Given the description of an element on the screen output the (x, y) to click on. 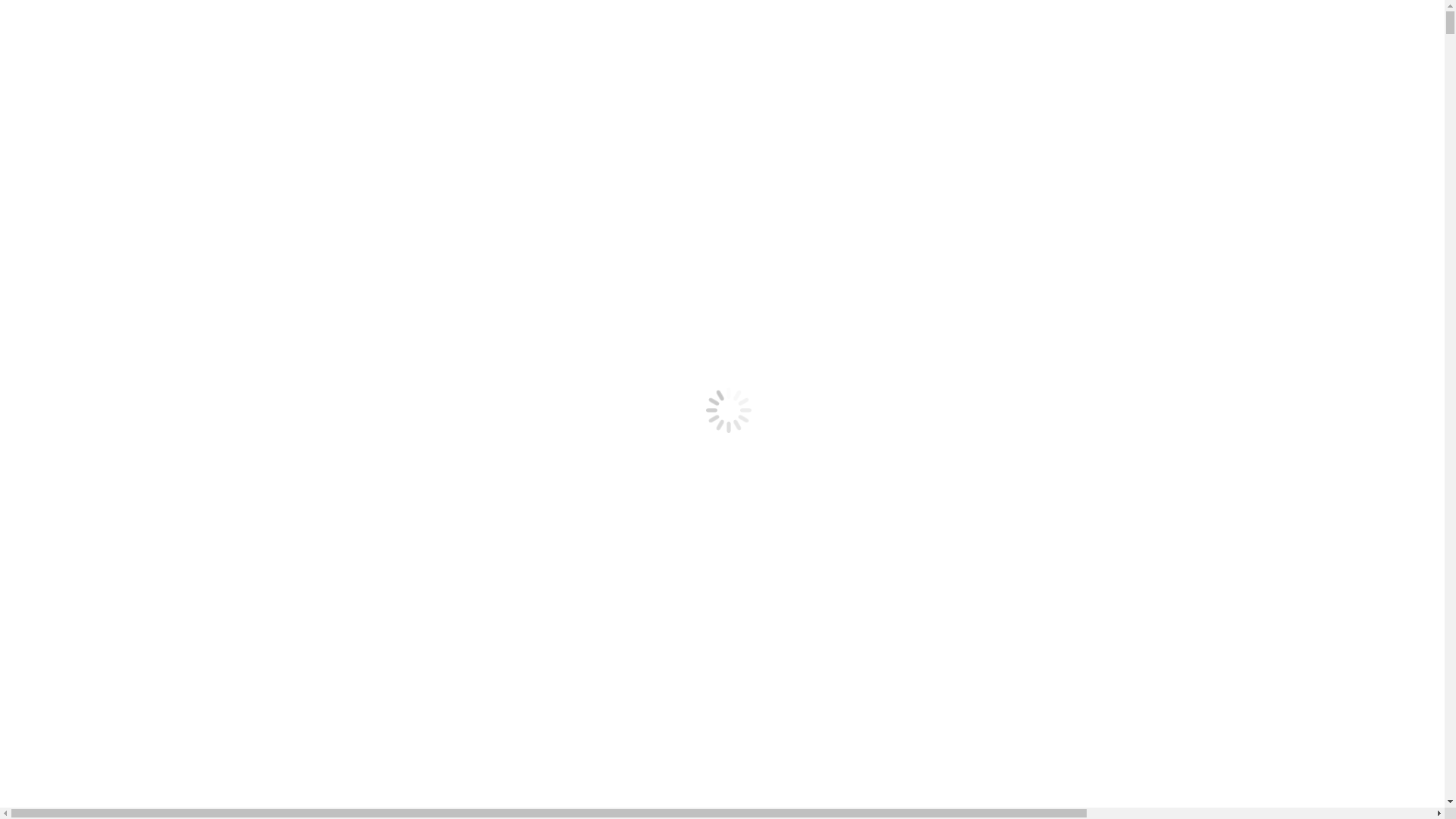
2 Scoops Eatery Take Out Element type: text (129, 436)
Chow Now Element type: text (94, 247)
Our Menu Element type: text (61, 313)
Chow Now Element type: text (94, 423)
Contact Element type: text (55, 354)
Home Element type: text (50, 124)
Skip to content Element type: text (42, 12)
Events Element type: text (52, 151)
Home Element type: text (50, 300)
About Us Element type: text (59, 341)
Order Online Element type: text (68, 382)
Order Online Element type: text (68, 206)
Our Menu Element type: text (61, 137)
Make A Donation Element type: text (79, 192)
Events Element type: text (52, 327)
About Us Element type: text (59, 165)
Door Dash Element type: text (92, 219)
Door Dash Element type: text (92, 395)
Grub Hub Element type: text (90, 409)
Slice Element type: text (78, 274)
Grub Hub Element type: text (90, 233)
Slice Element type: text (78, 450)
Make A Donation Element type: text (79, 368)
2 Scoops Eatery Take Out Element type: text (129, 260)
Contact Element type: text (55, 178)
